Given the description of an element on the screen output the (x, y) to click on. 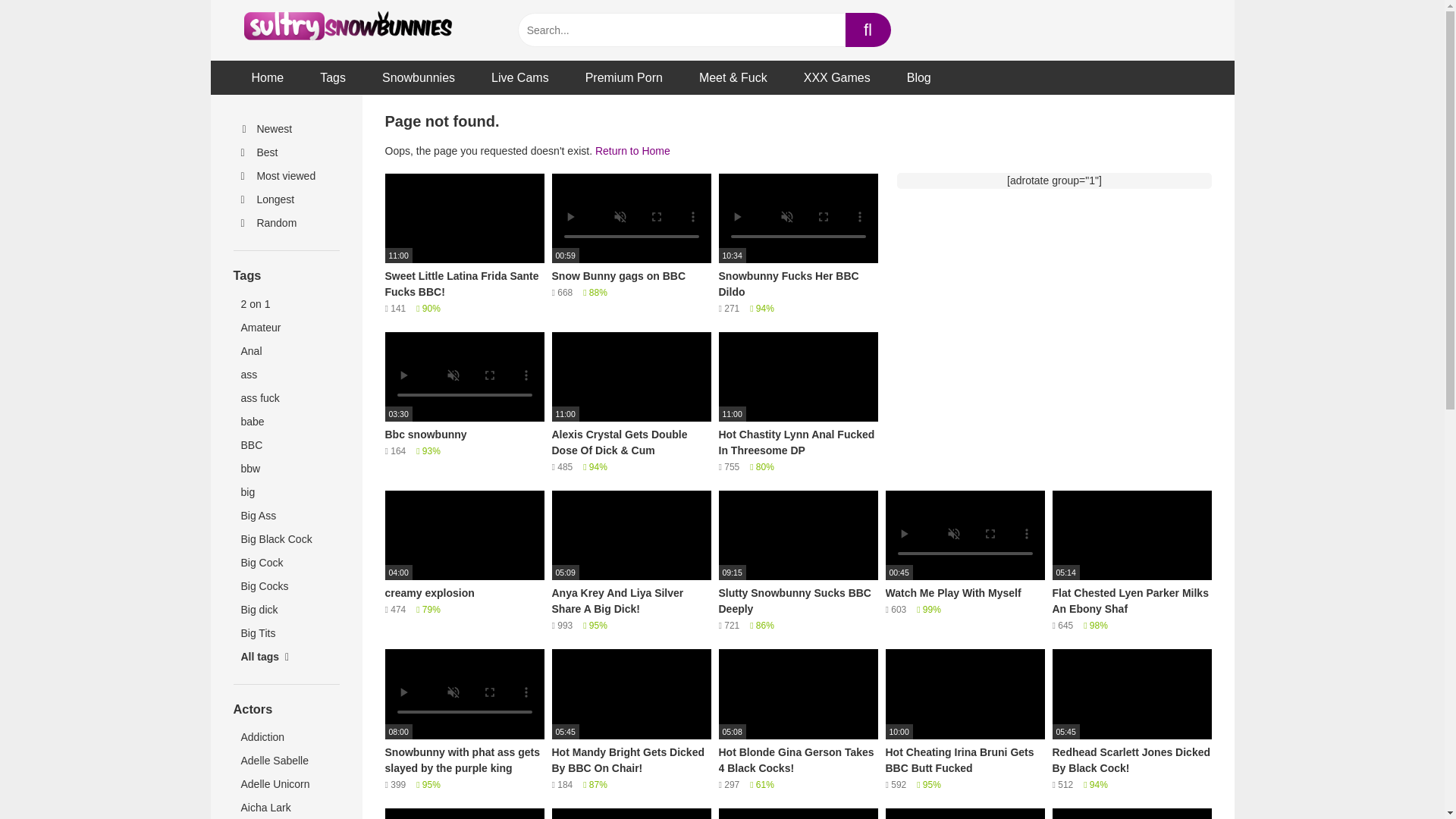
Blog (918, 77)
BBC (285, 445)
Flat Chested Lyen Parker Milks An Ebony Shaf (1131, 561)
Most viewed (285, 176)
Sultry Snowbunnies (346, 29)
Big Cocks (285, 586)
XXX Games (837, 77)
ass fuck (285, 398)
Big Ass (285, 515)
Adelle Sabelle (285, 761)
Aicha Lark (285, 807)
babe (285, 422)
Live Cams (520, 77)
Snowbunny Fucks Her BBC Dildo (798, 244)
Search... (680, 29)
